Given the description of an element on the screen output the (x, y) to click on. 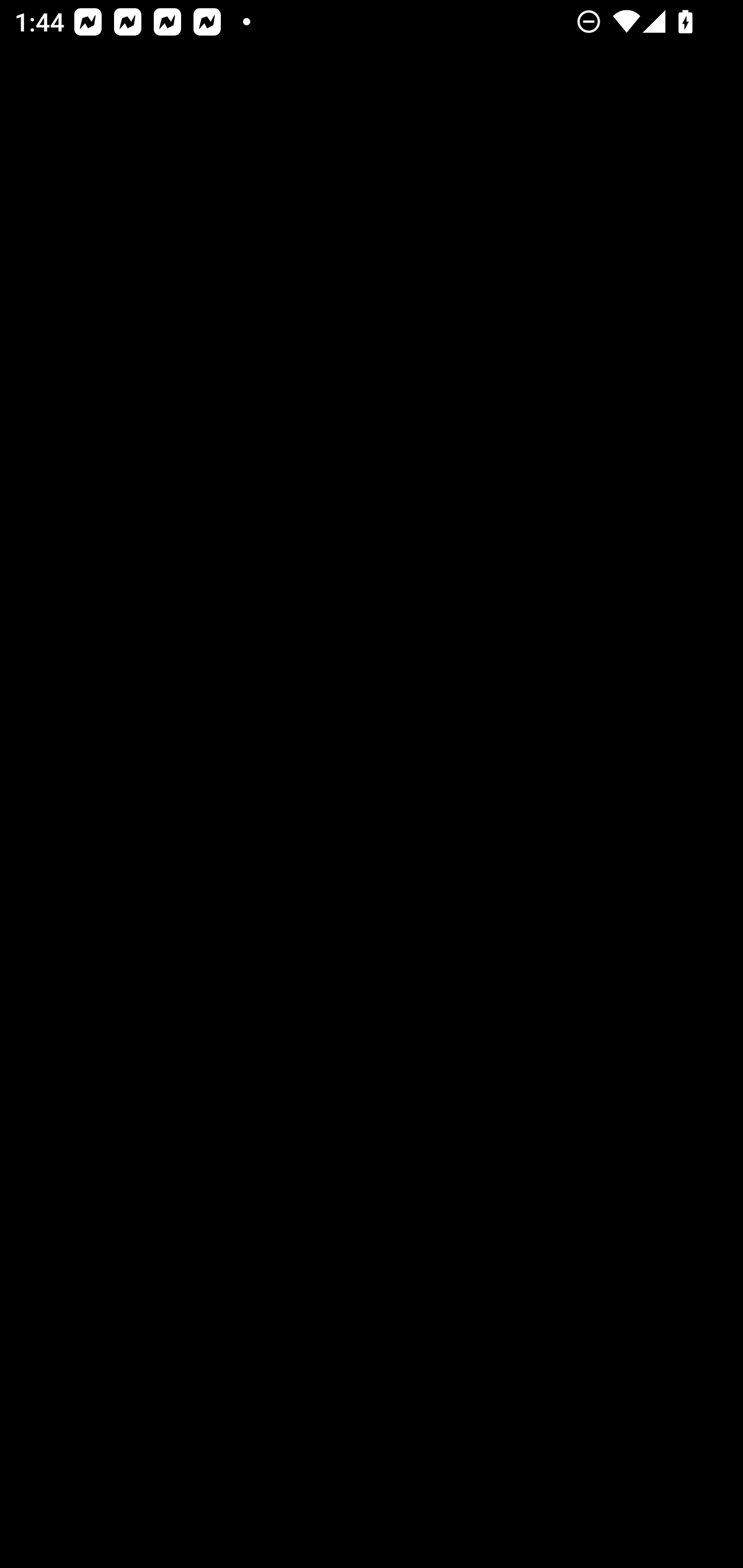
Add Account (371, 406)
